Given the description of an element on the screen output the (x, y) to click on. 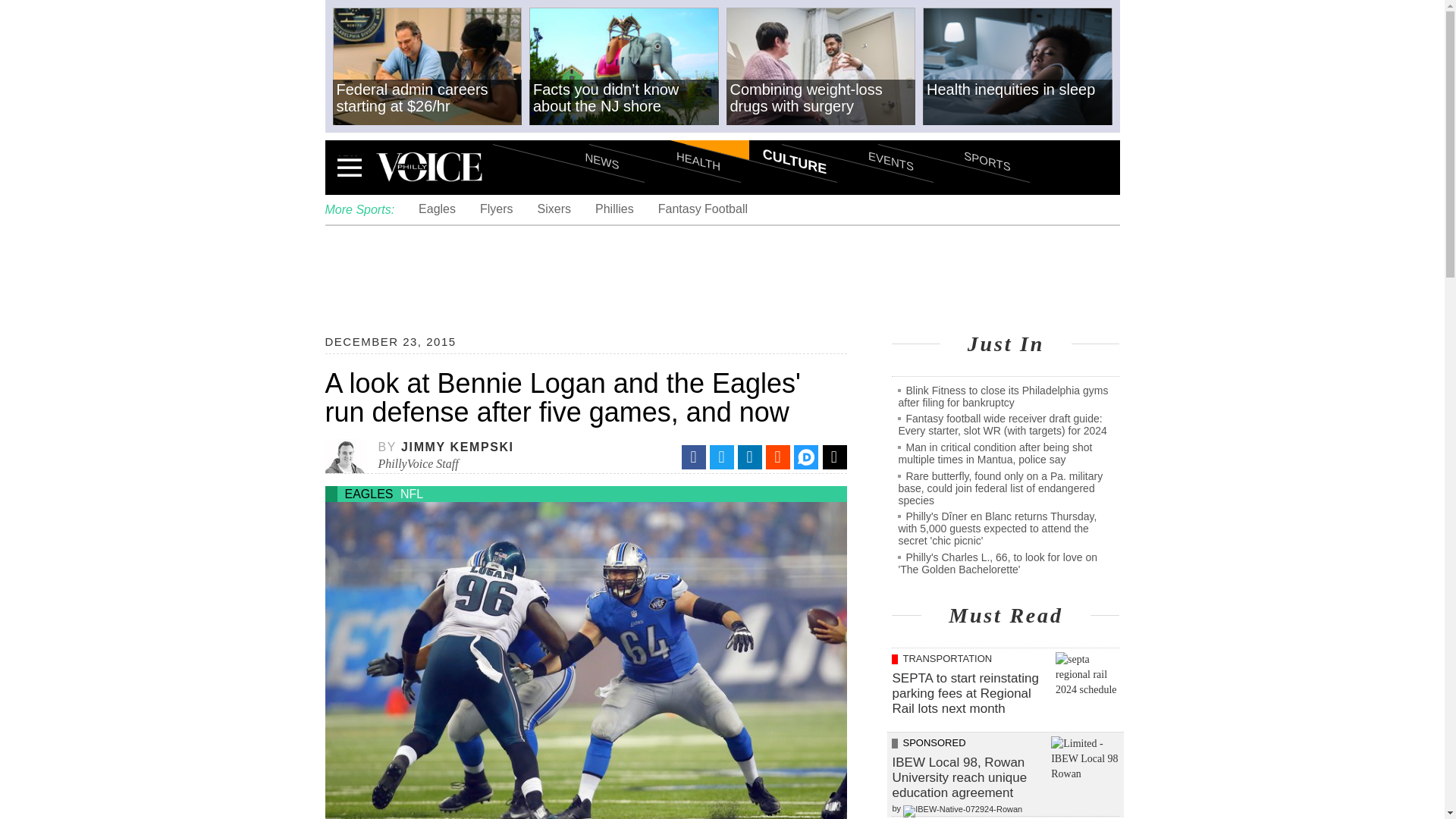
Reddit (777, 457)
Twitter (721, 457)
Menu (348, 167)
NEWS (569, 132)
SPORTS (953, 132)
EVENTS (856, 132)
Email (833, 457)
HEALTH (663, 132)
Facebook (693, 457)
CULTURE (761, 132)
